Given the description of an element on the screen output the (x, y) to click on. 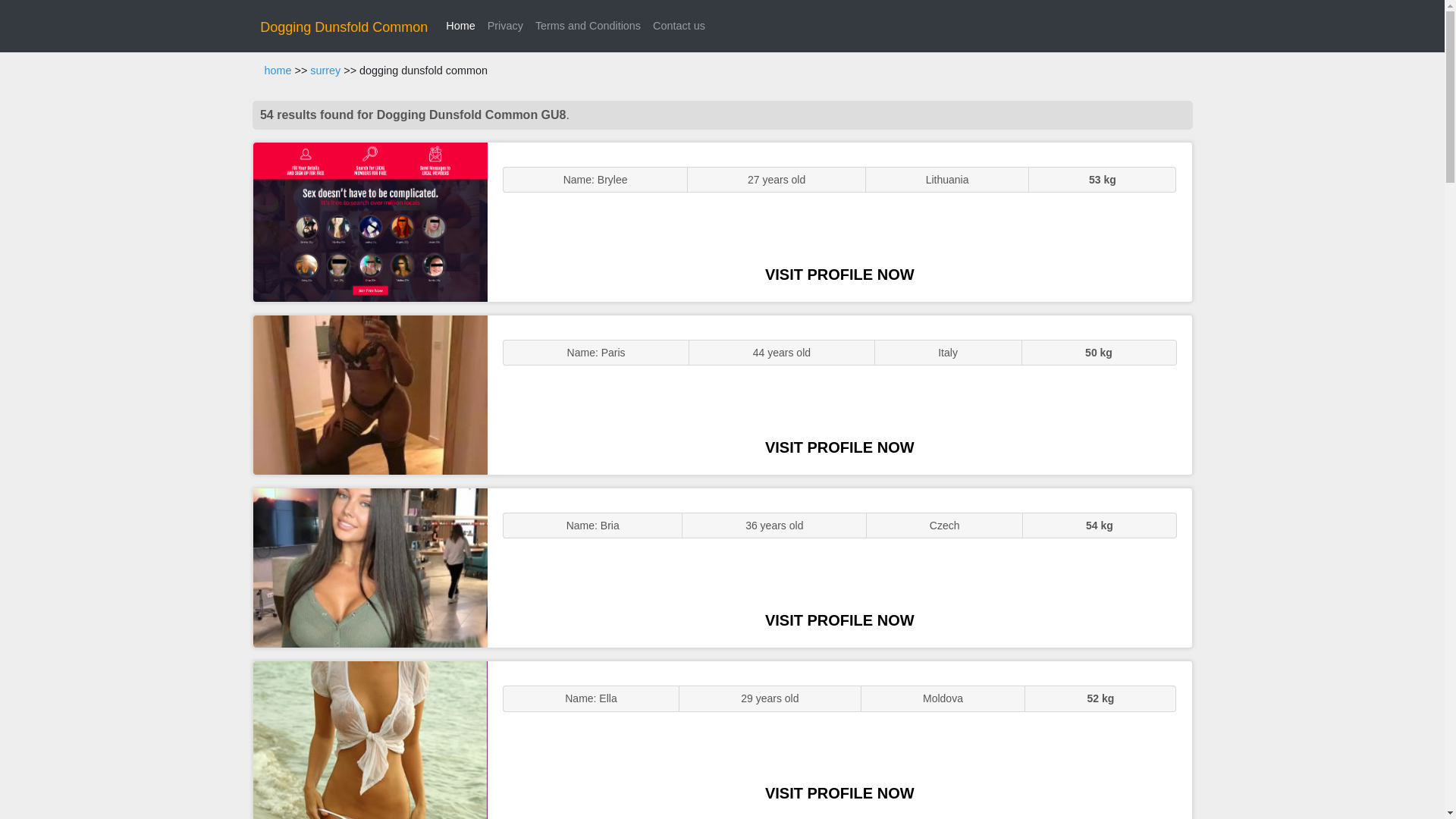
Contact us (678, 25)
VISIT PROFILE NOW (839, 446)
VISIT PROFILE NOW (839, 792)
Dogging Dunsfold Common (344, 27)
surrey (325, 70)
Privacy (505, 25)
GFE (370, 395)
VISIT PROFILE NOW (839, 274)
 ENGLISH STUNNER (370, 222)
Sexy (370, 567)
Sluts (370, 739)
home (277, 70)
Terms and Conditions (587, 25)
VISIT PROFILE NOW (839, 619)
